Given the description of an element on the screen output the (x, y) to click on. 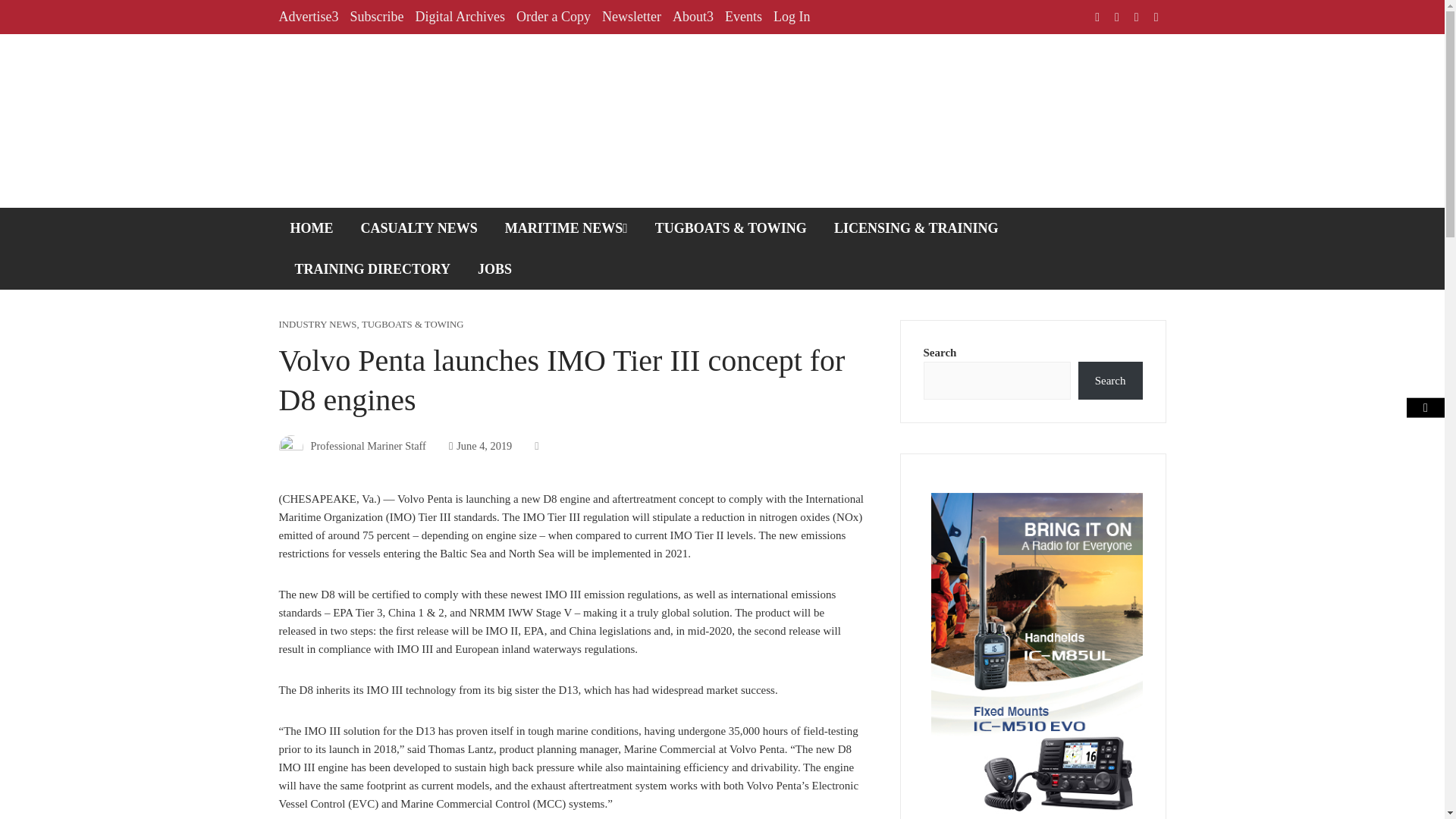
Log In (791, 17)
About (692, 17)
TRAINING DIRECTORY (373, 268)
Newsletter (631, 17)
INDUSTRY NEWS (317, 325)
Subscribe (376, 17)
Events (743, 17)
Advertise (309, 17)
HOME (312, 228)
JOBS (493, 268)
Order a Copy (553, 17)
CASUALTY NEWS (418, 228)
Digital Archives (458, 17)
MARITIME NEWS (566, 228)
